Given the description of an element on the screen output the (x, y) to click on. 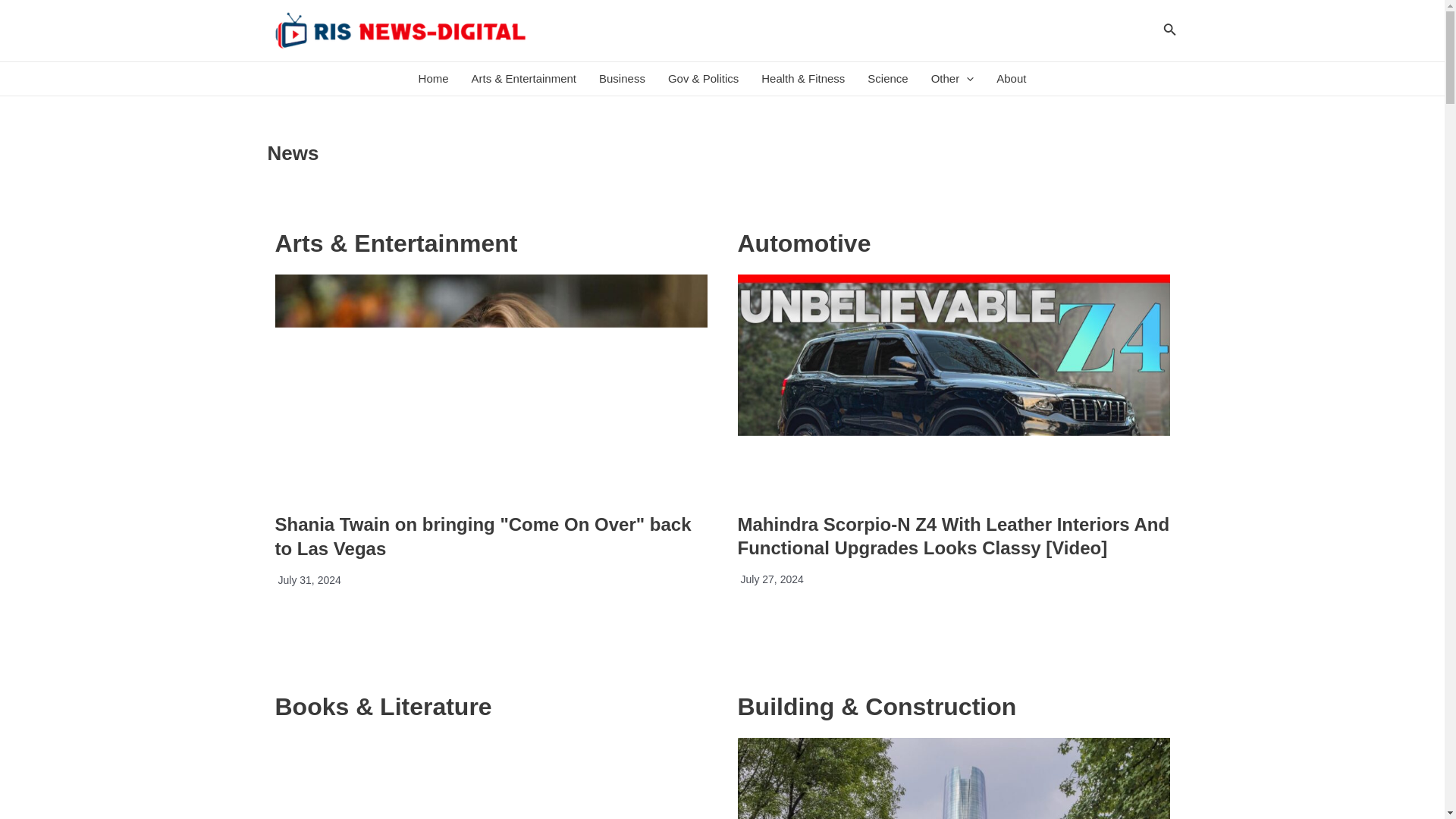
Home (433, 78)
Business (622, 78)
Other (952, 78)
Science (887, 78)
About (1010, 78)
